Given the description of an element on the screen output the (x, y) to click on. 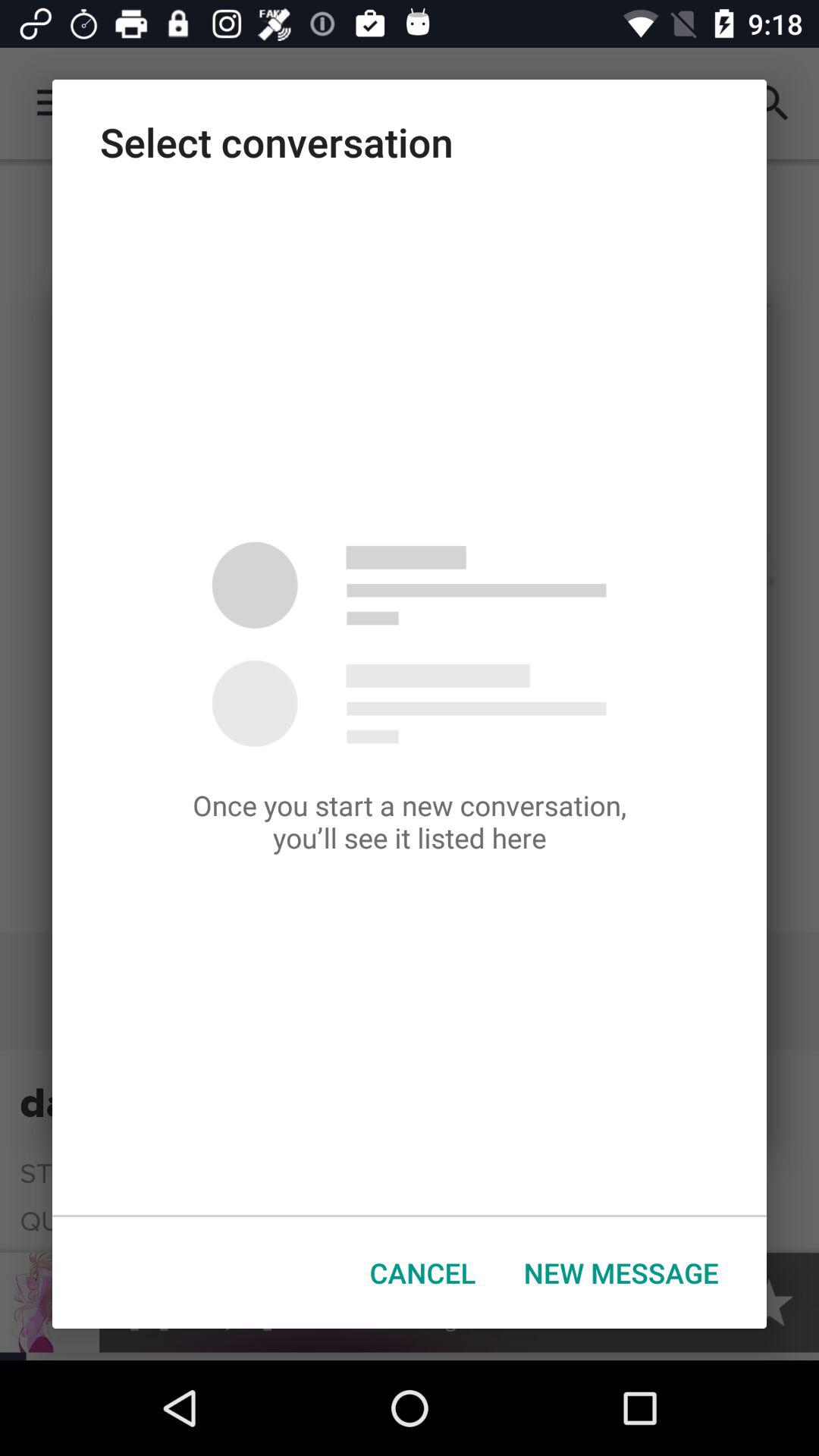
select the button at the bottom right corner (620, 1272)
